Given the description of an element on the screen output the (x, y) to click on. 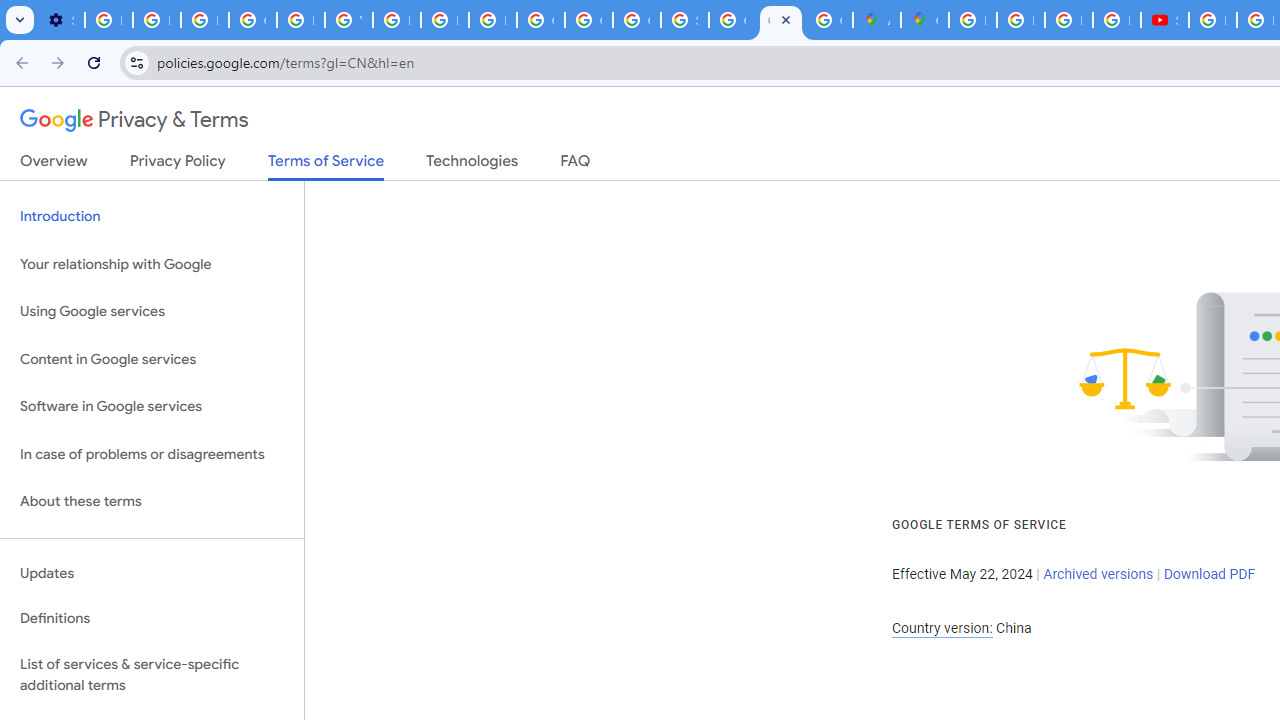
Subscriptions - YouTube (1164, 20)
YouTube (348, 20)
About these terms (152, 502)
Privacy Help Center - Policies Help (300, 20)
Delete photos & videos - Computer - Google Photos Help (108, 20)
